Given the description of an element on the screen output the (x, y) to click on. 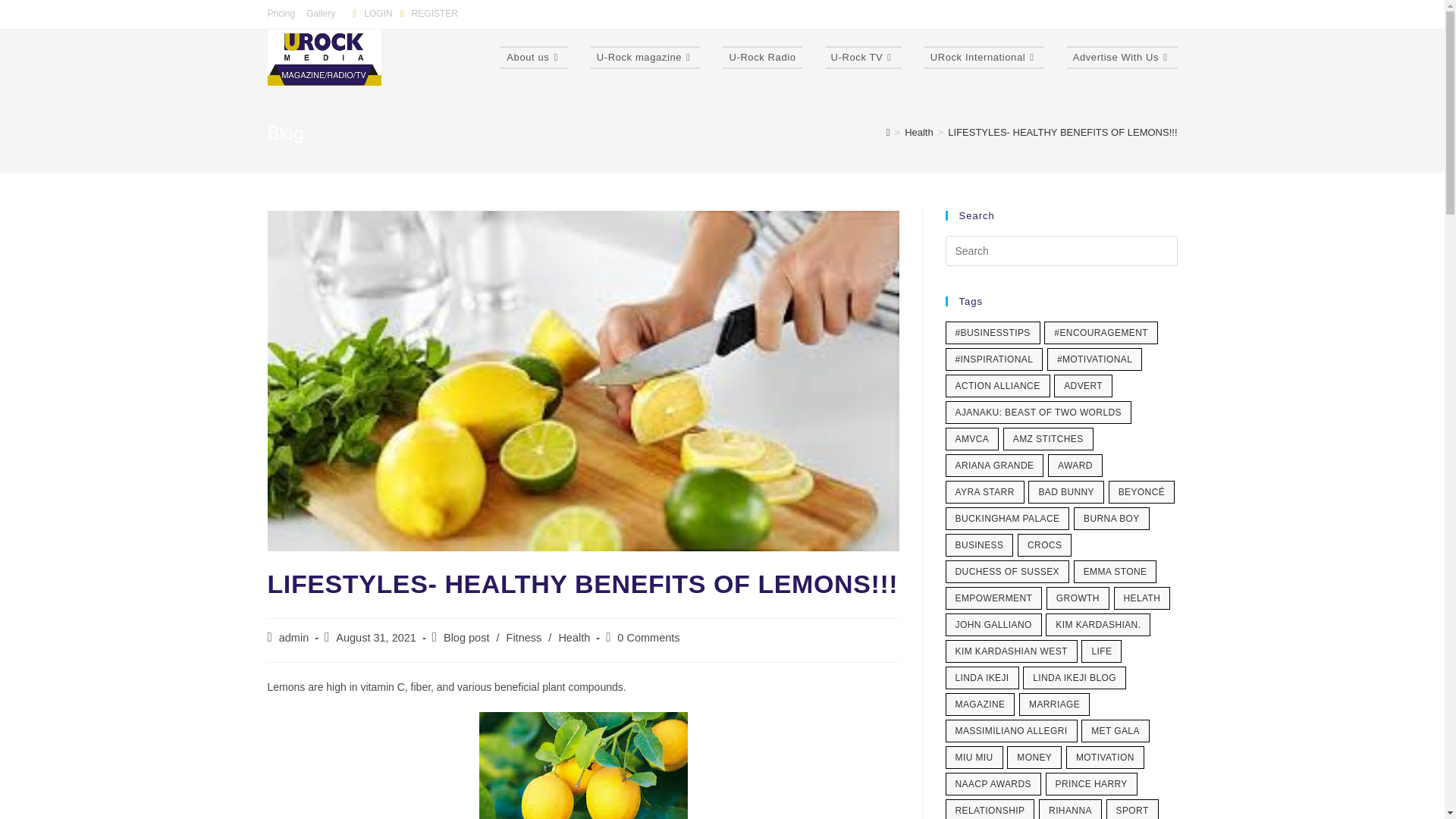
REGISTER (426, 13)
Advertise With Us (1122, 57)
U-Rock magazine (645, 57)
Posts by admin (293, 637)
Pricing (280, 13)
About us (533, 57)
Pricing (280, 13)
URock International (983, 57)
Gallery (319, 13)
U-Rock Radio (761, 57)
